Given the description of an element on the screen output the (x, y) to click on. 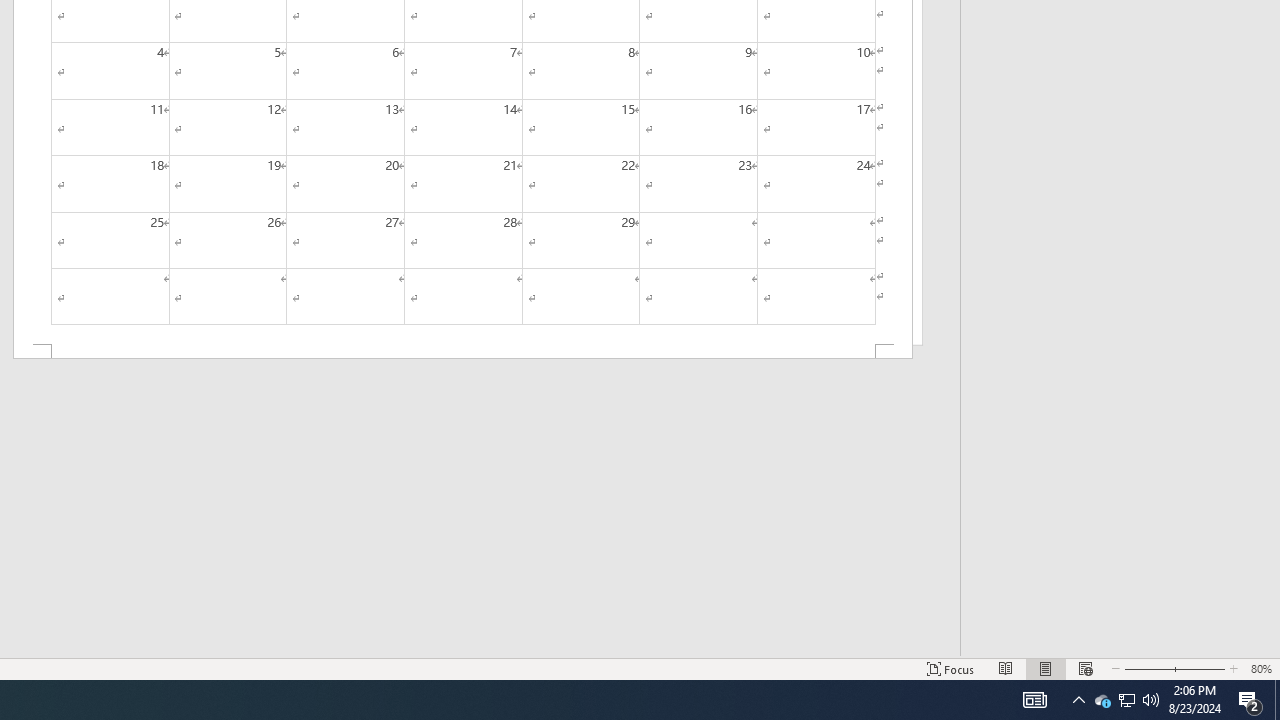
Zoom In (1195, 668)
Focus  (951, 668)
Read Mode (1005, 668)
Zoom Out (1143, 668)
Footer -Section 2- (462, 351)
Web Layout (1085, 668)
Print Layout (1046, 668)
